Given the description of an element on the screen output the (x, y) to click on. 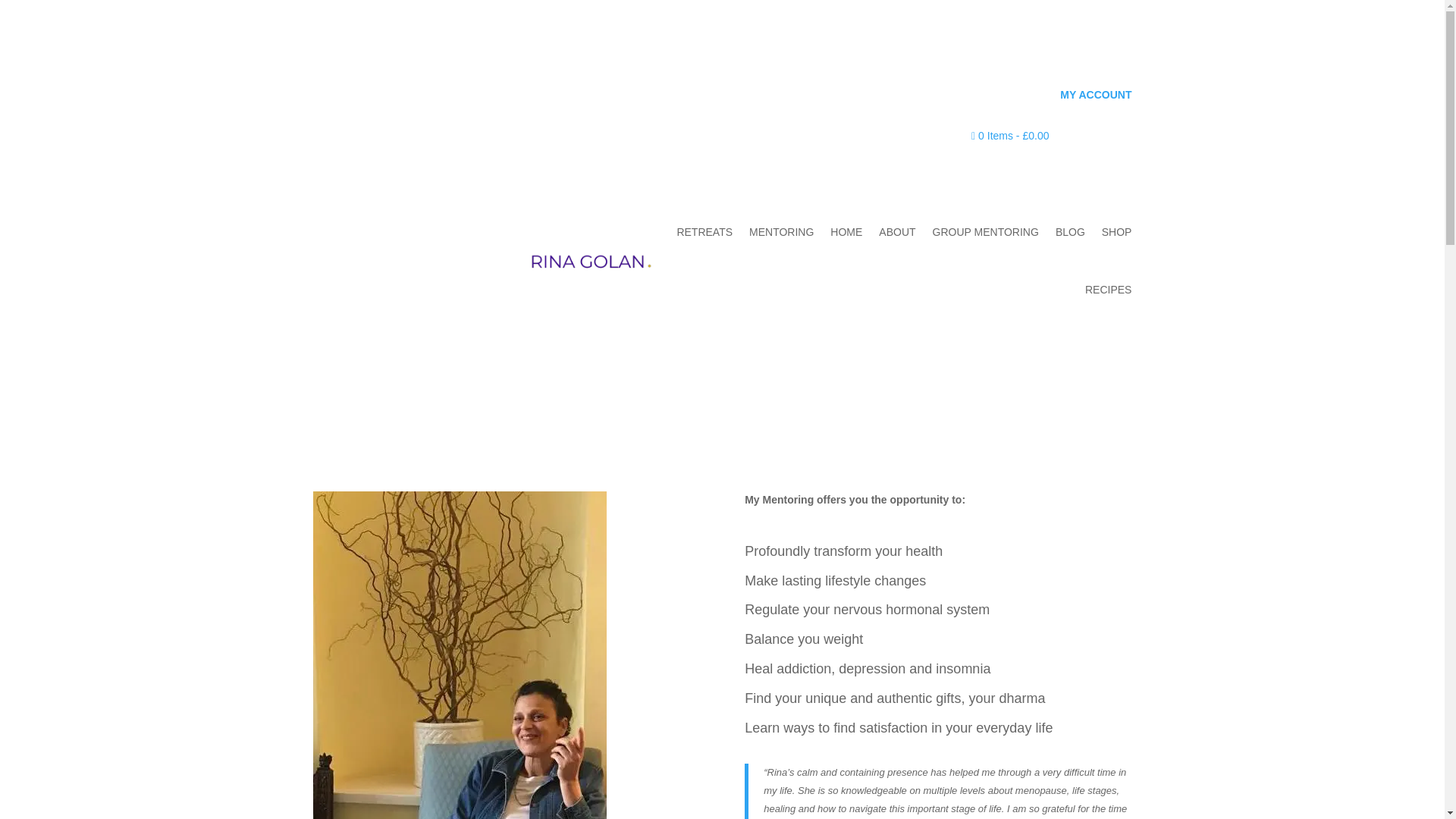
Cart (1009, 135)
GROUP MENTORING (986, 232)
RETREATS (704, 232)
Mentoring (459, 655)
MENTORING (781, 232)
MY ACCOUNT (1095, 94)
